Given the description of an element on the screen output the (x, y) to click on. 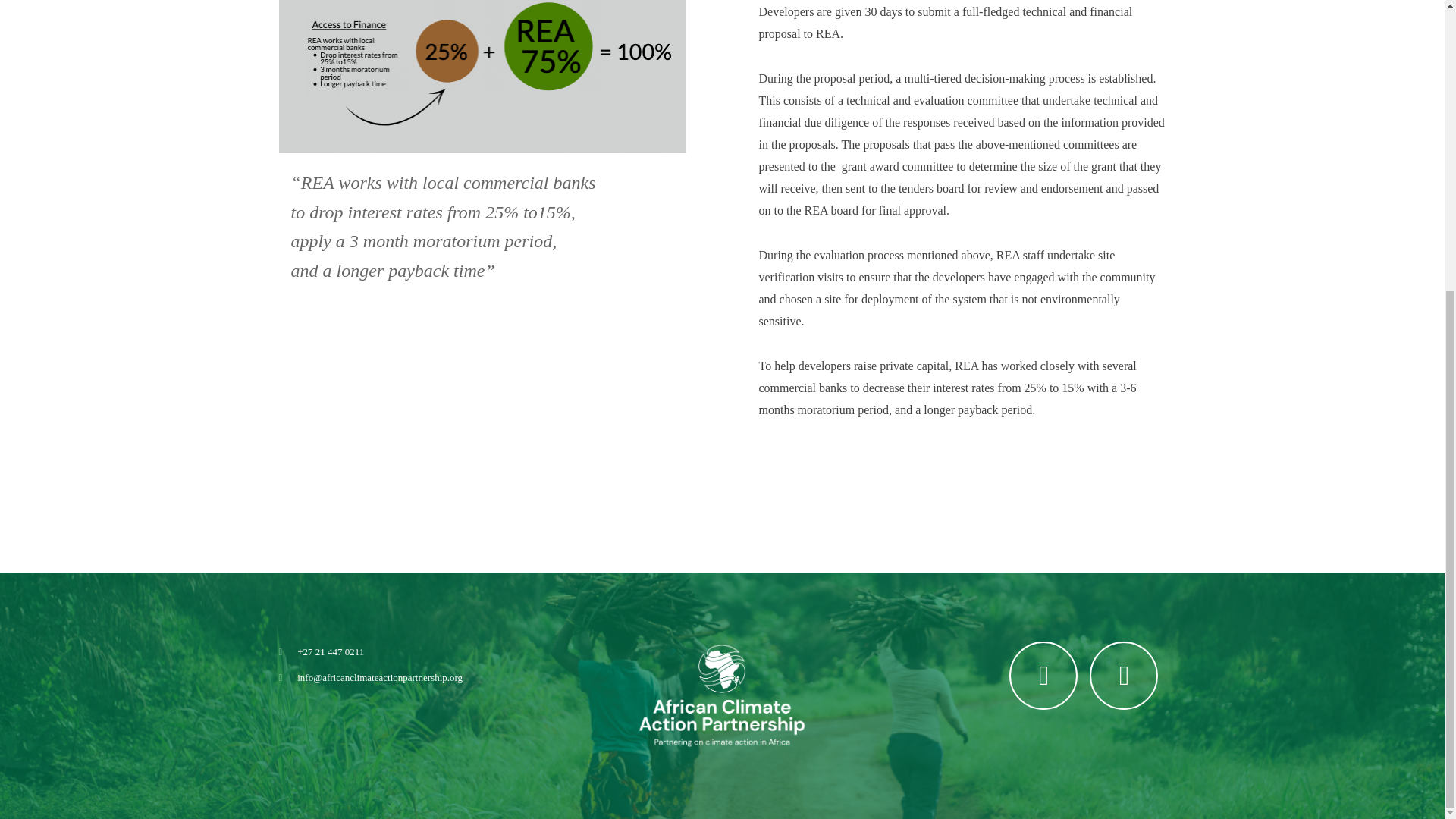
YouTube (1123, 232)
Twitter (1043, 232)
